Given the description of an element on the screen output the (x, y) to click on. 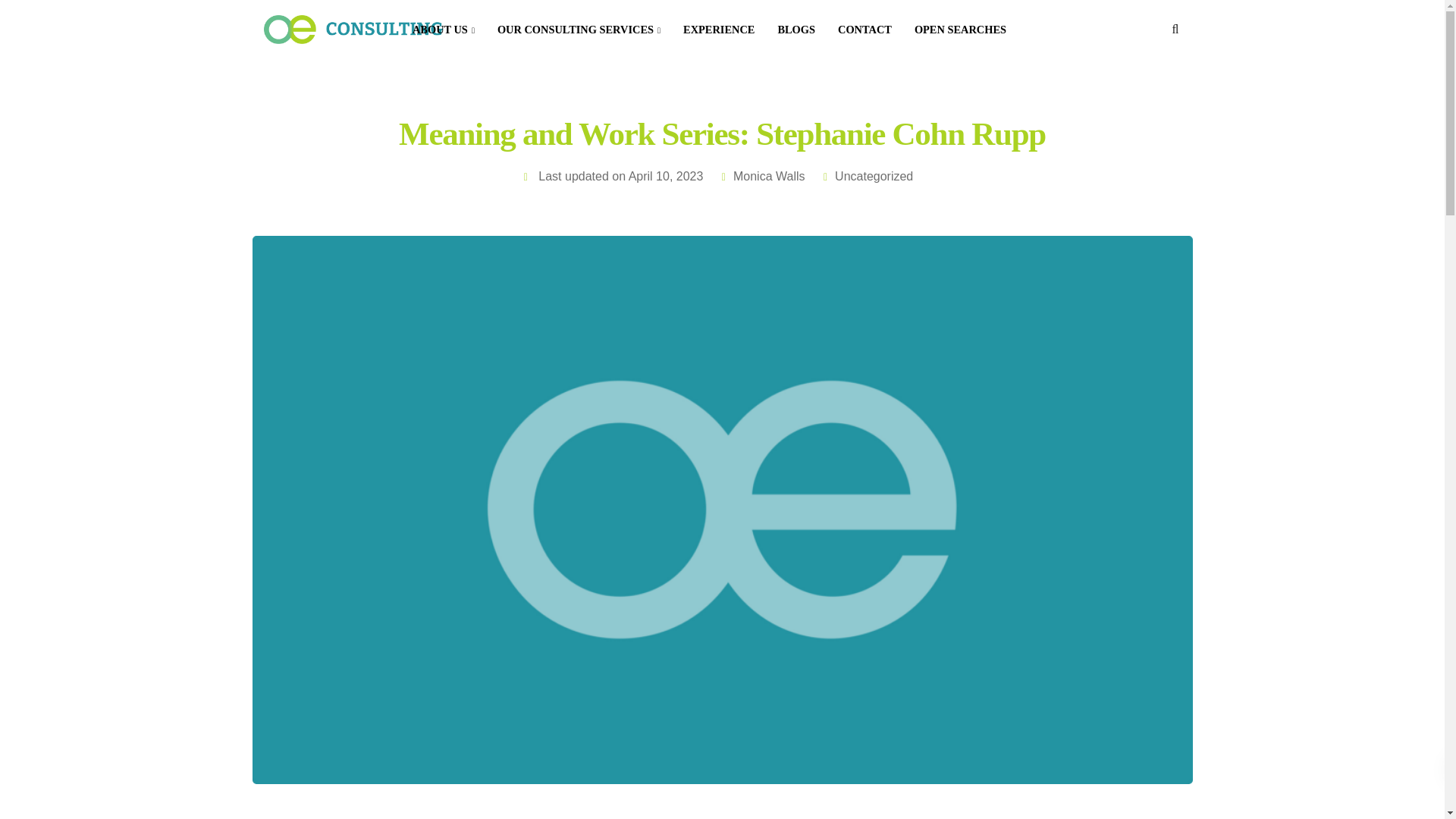
OPEN SEARCHES (959, 29)
Blogs (796, 29)
OUR CONSULTING SERVICES (578, 29)
BLOGS (796, 29)
Monica Walls (769, 175)
About Us (443, 29)
Experience (718, 29)
CONTACT (864, 29)
Our Consulting Services (578, 29)
EXPERIENCE (718, 29)
Contact (864, 29)
Stephanie Cohn Rupp (665, 817)
Open Searches (959, 29)
ABOUT US (443, 29)
Posts by Monica Walls (769, 175)
